Given the description of an element on the screen output the (x, y) to click on. 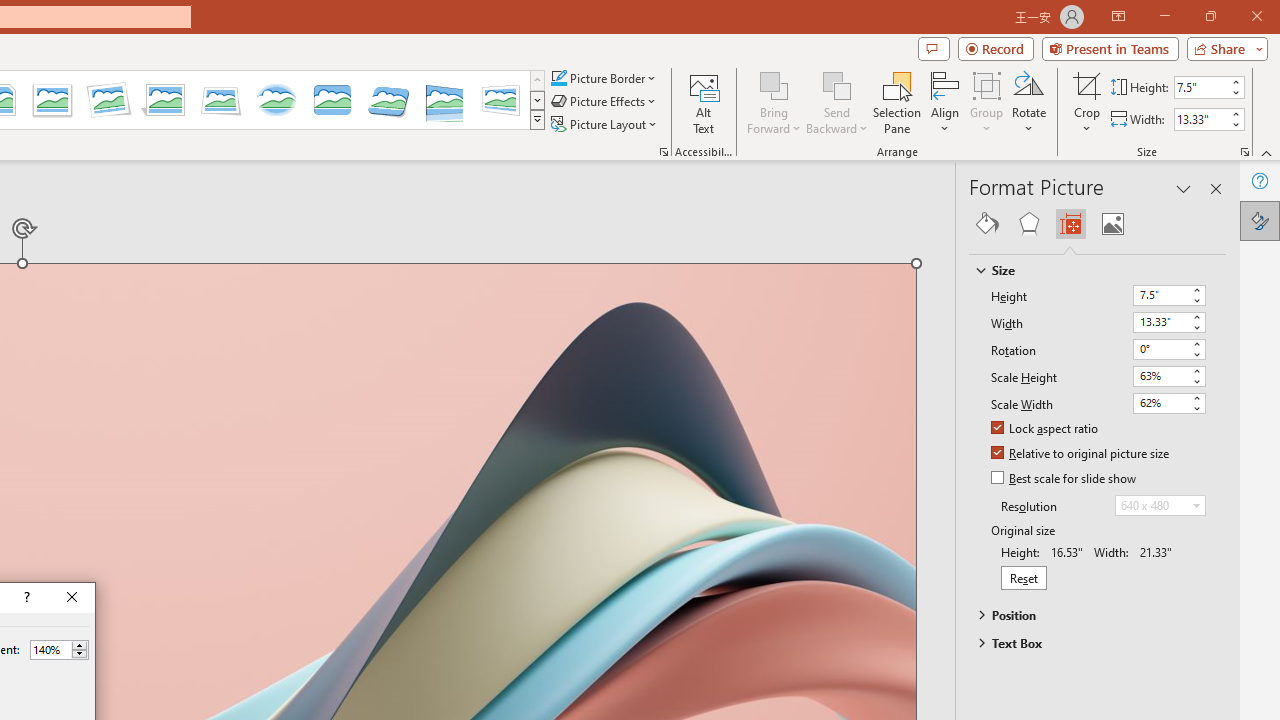
Percent (50, 649)
Picture Border (603, 78)
Soft Edge Oval (276, 100)
Rotated, White (108, 100)
Lock aspect ratio (1046, 429)
Percent (59, 650)
Resolution (1159, 505)
Rotation (1160, 348)
Send Backward (836, 84)
Size (1088, 269)
Picture Border Blue, Accent 1 (558, 78)
